Given the description of an element on the screen output the (x, y) to click on. 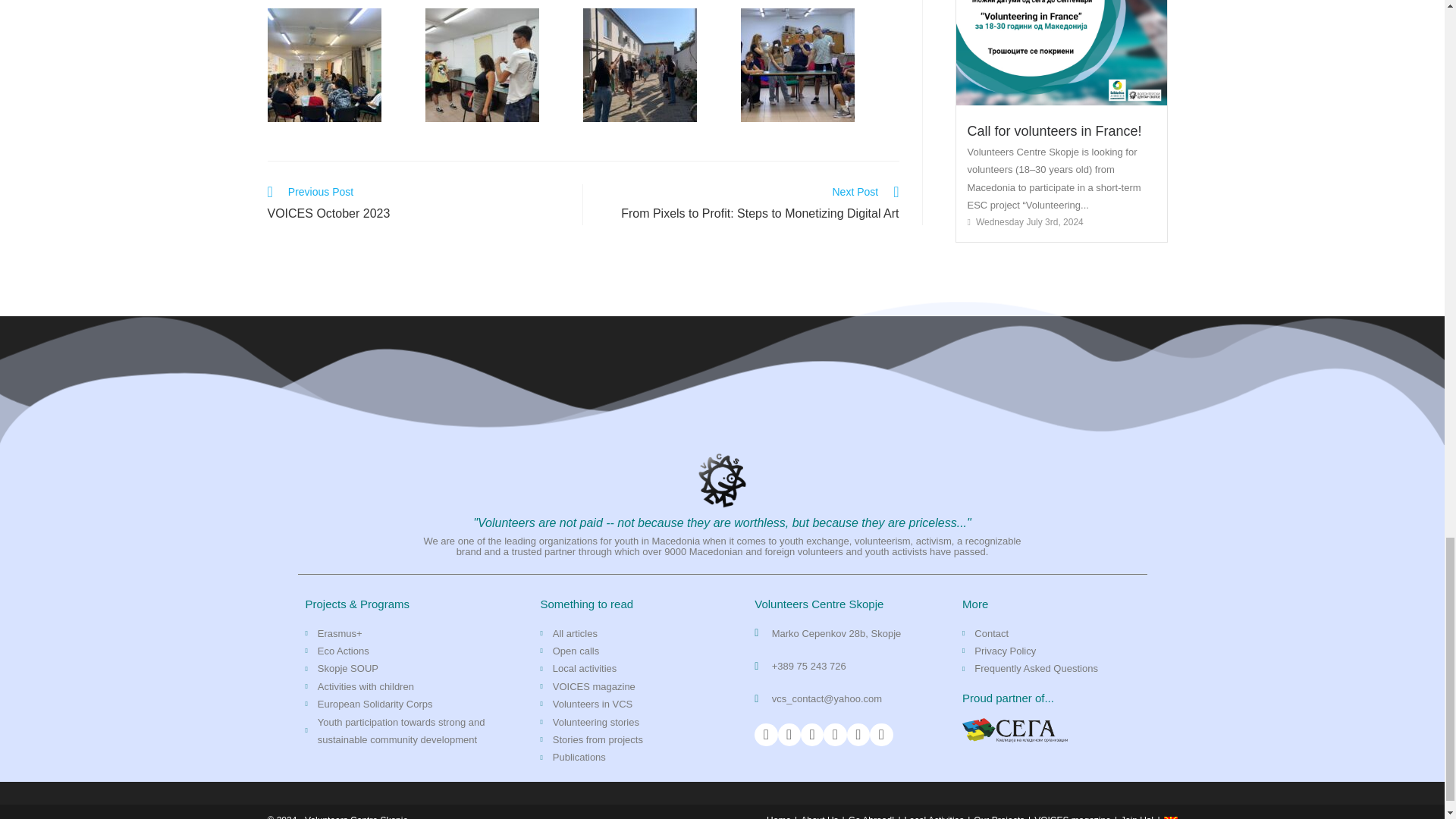
Call for volunteers in France! (1054, 130)
